Given the description of an element on the screen output the (x, y) to click on. 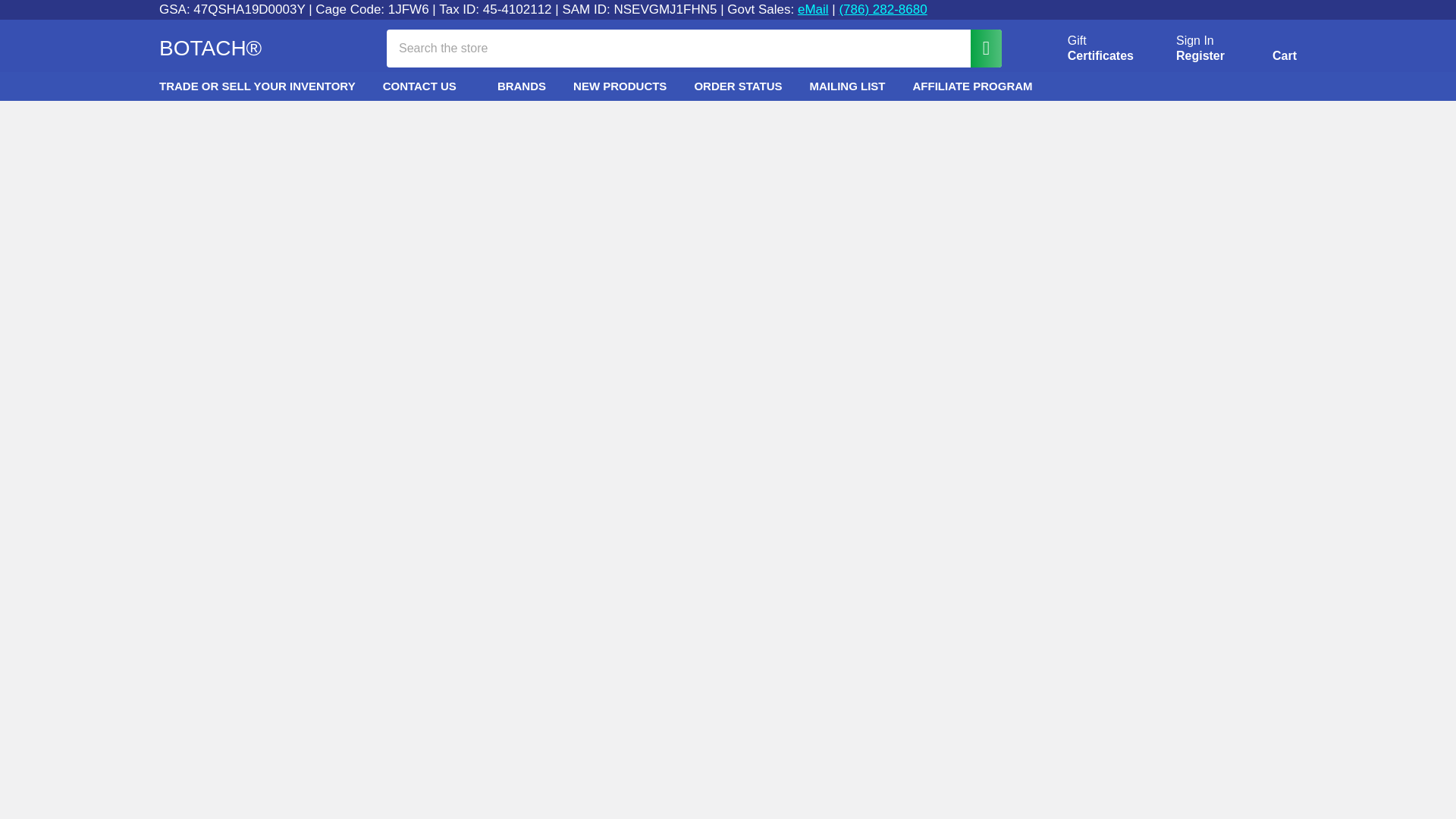
Cart (1266, 51)
Cart (1266, 51)
Register (1200, 55)
Gift Certificates (1083, 48)
Search (978, 47)
eMail (812, 9)
Sign In (1195, 40)
Search (1083, 48)
